Given the description of an element on the screen output the (x, y) to click on. 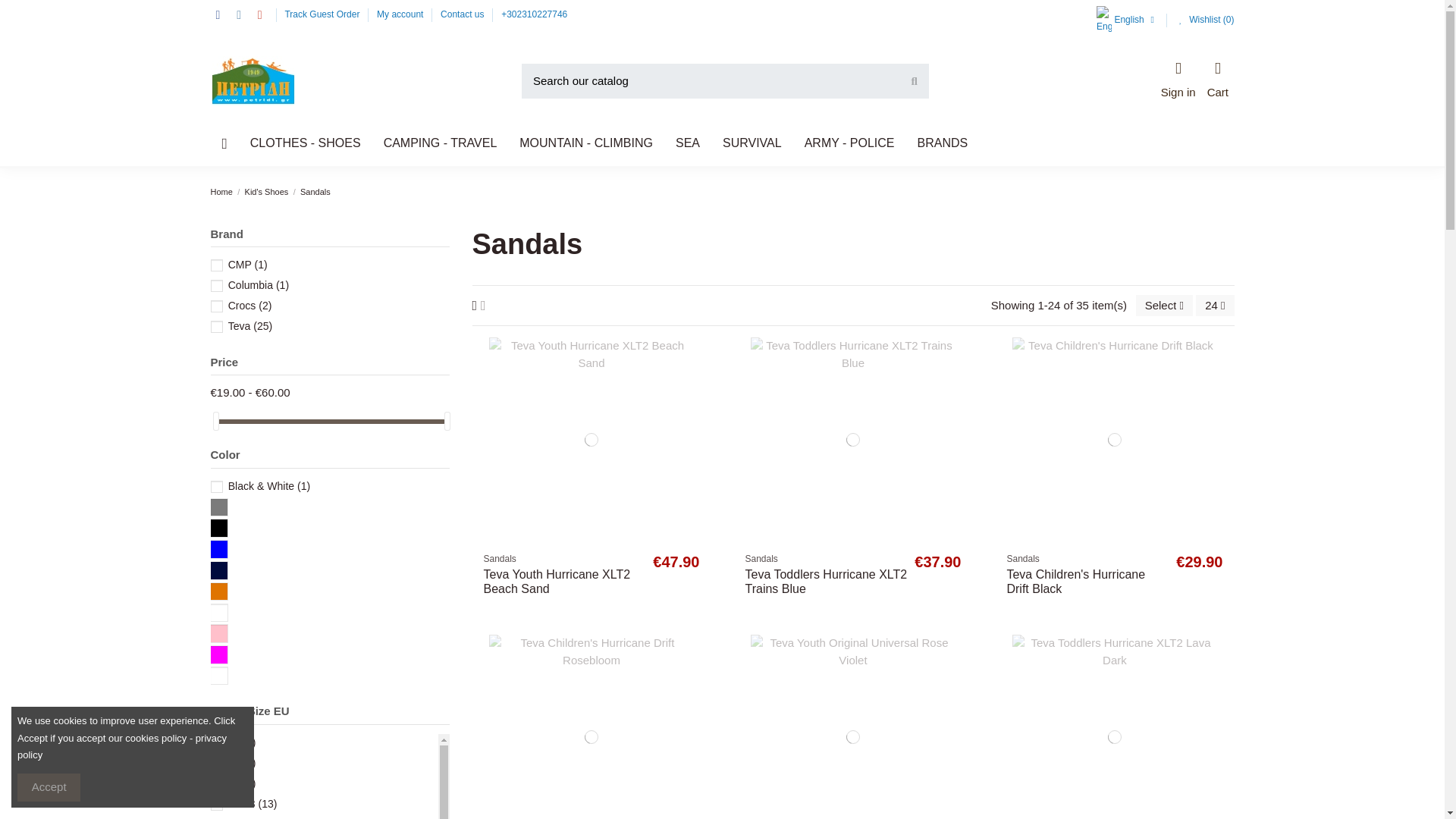
Use our form to contact us (463, 14)
Contact us (463, 14)
Track Guest Order (322, 14)
CLOTHES - SHOES (305, 143)
My account (401, 14)
English (1126, 19)
